Given the description of an element on the screen output the (x, y) to click on. 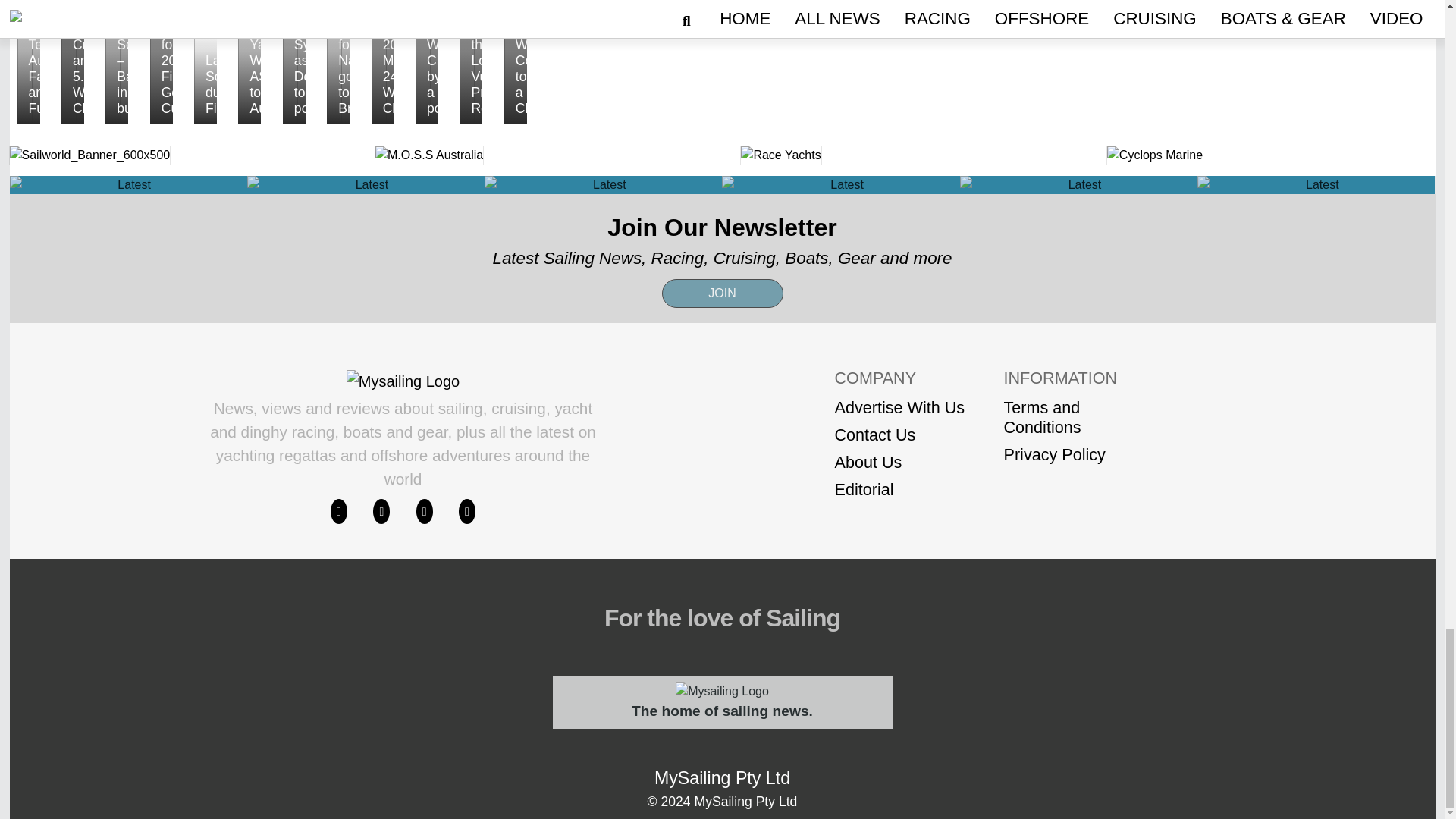
Advertise With Us (899, 407)
Editorial (899, 489)
About Us (899, 462)
Contact Us (899, 435)
